Given the description of an element on the screen output the (x, y) to click on. 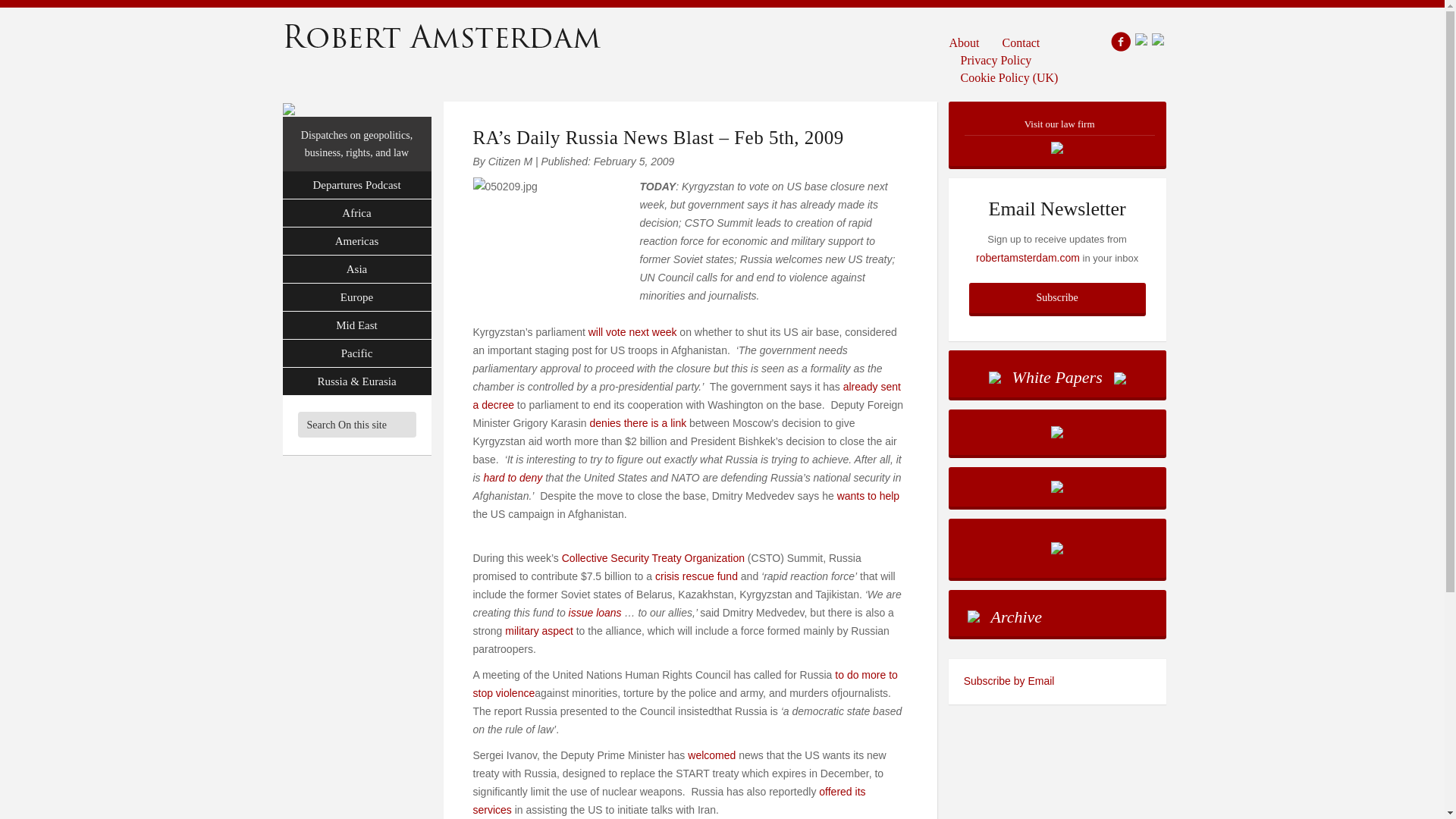
Pacific (356, 353)
denies there is a link (638, 422)
Departures Podcast (356, 185)
issue loans (595, 612)
to do more to stop violence (685, 684)
hard to deny (513, 477)
crisis rescue fund (696, 576)
already sent a decree (687, 395)
Asia (356, 269)
Subscribe to the Robert Amsterdam feed by email (1057, 681)
